Given the description of an element on the screen output the (x, y) to click on. 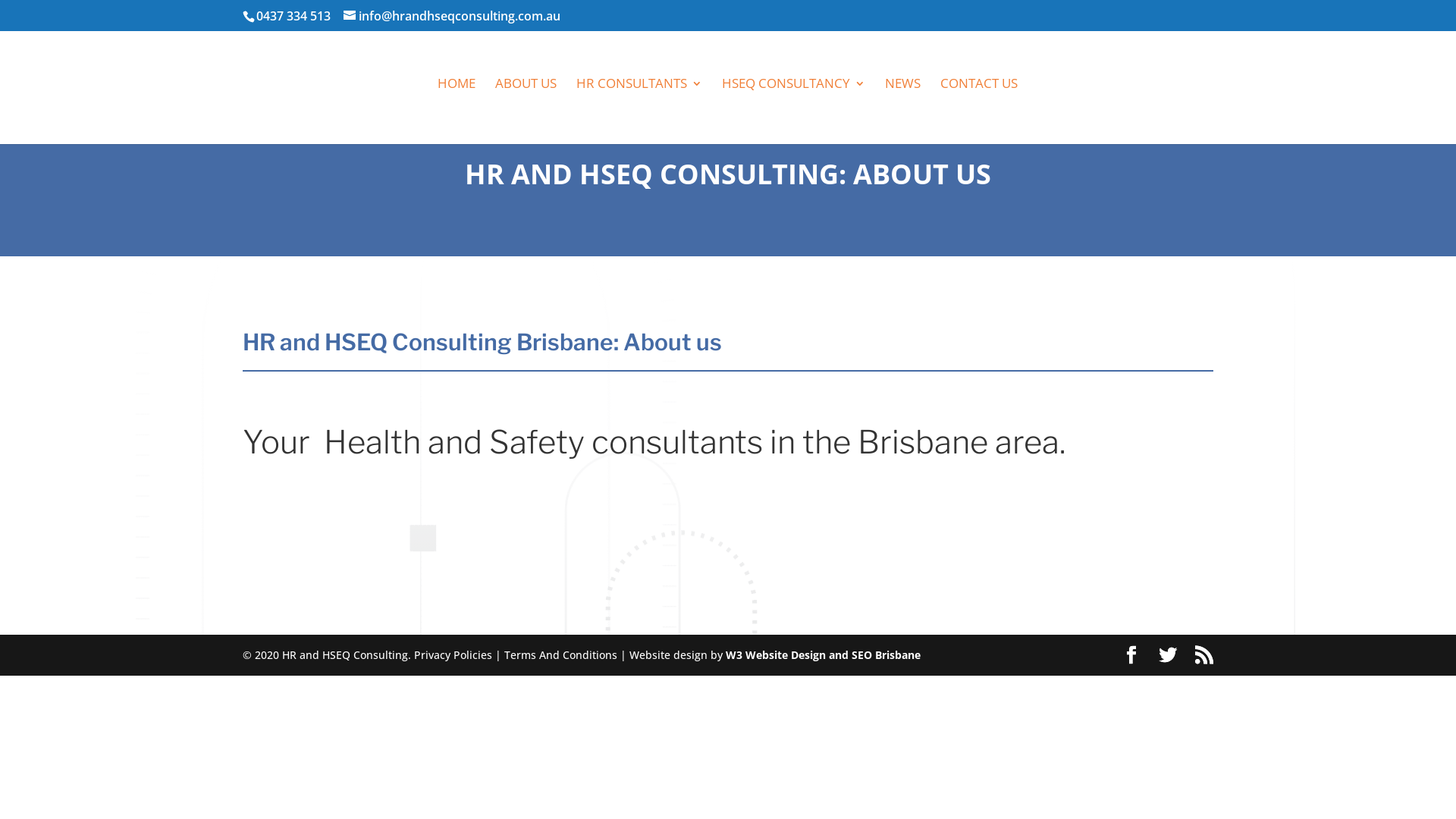
0437 334 513 Element type: text (293, 15)
W3 Website Design and SEO Brisbane Element type: text (822, 654)
HSEQ CONSULTANCY Element type: text (793, 111)
ABOUT US Element type: text (524, 111)
NEWS Element type: text (901, 111)
HR CONSULTANTS Element type: text (639, 111)
HOME Element type: text (455, 111)
CONTACT US Element type: text (978, 111)
info@hrandhseqconsulting.com.au Element type: text (451, 15)
